Given the description of an element on the screen output the (x, y) to click on. 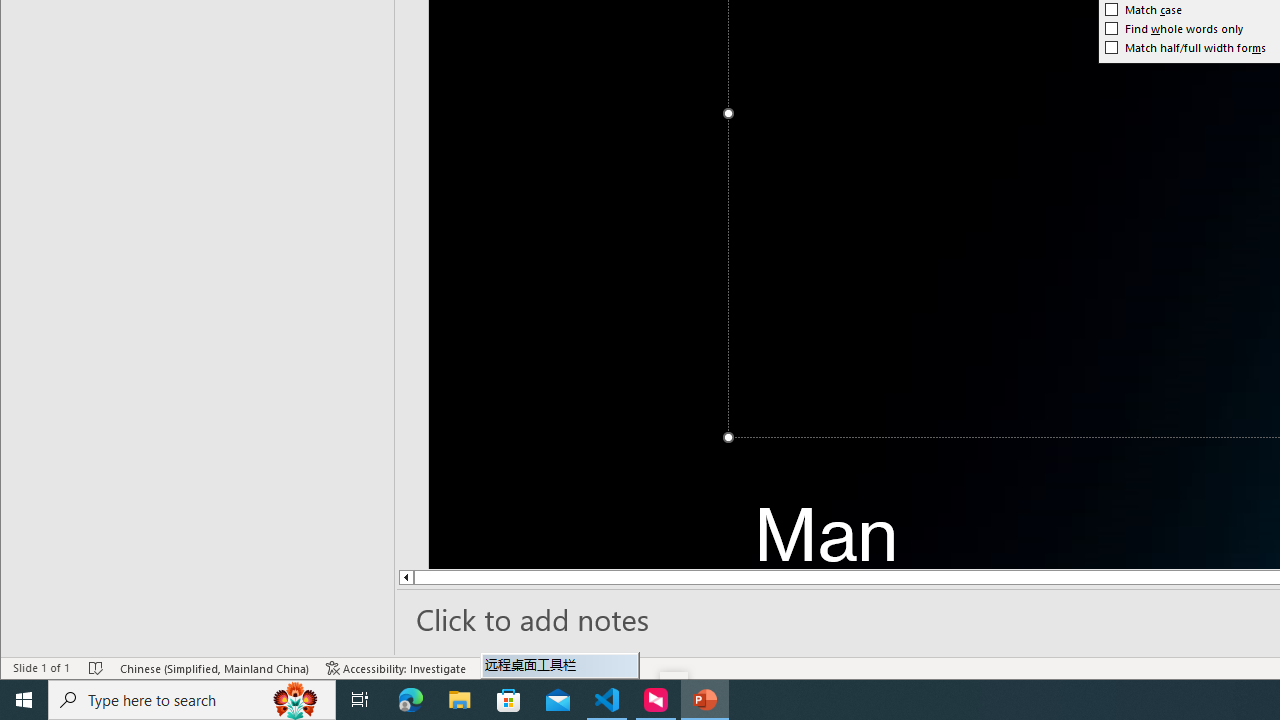
Match half/full width forms (1186, 48)
